Given the description of an element on the screen output the (x, y) to click on. 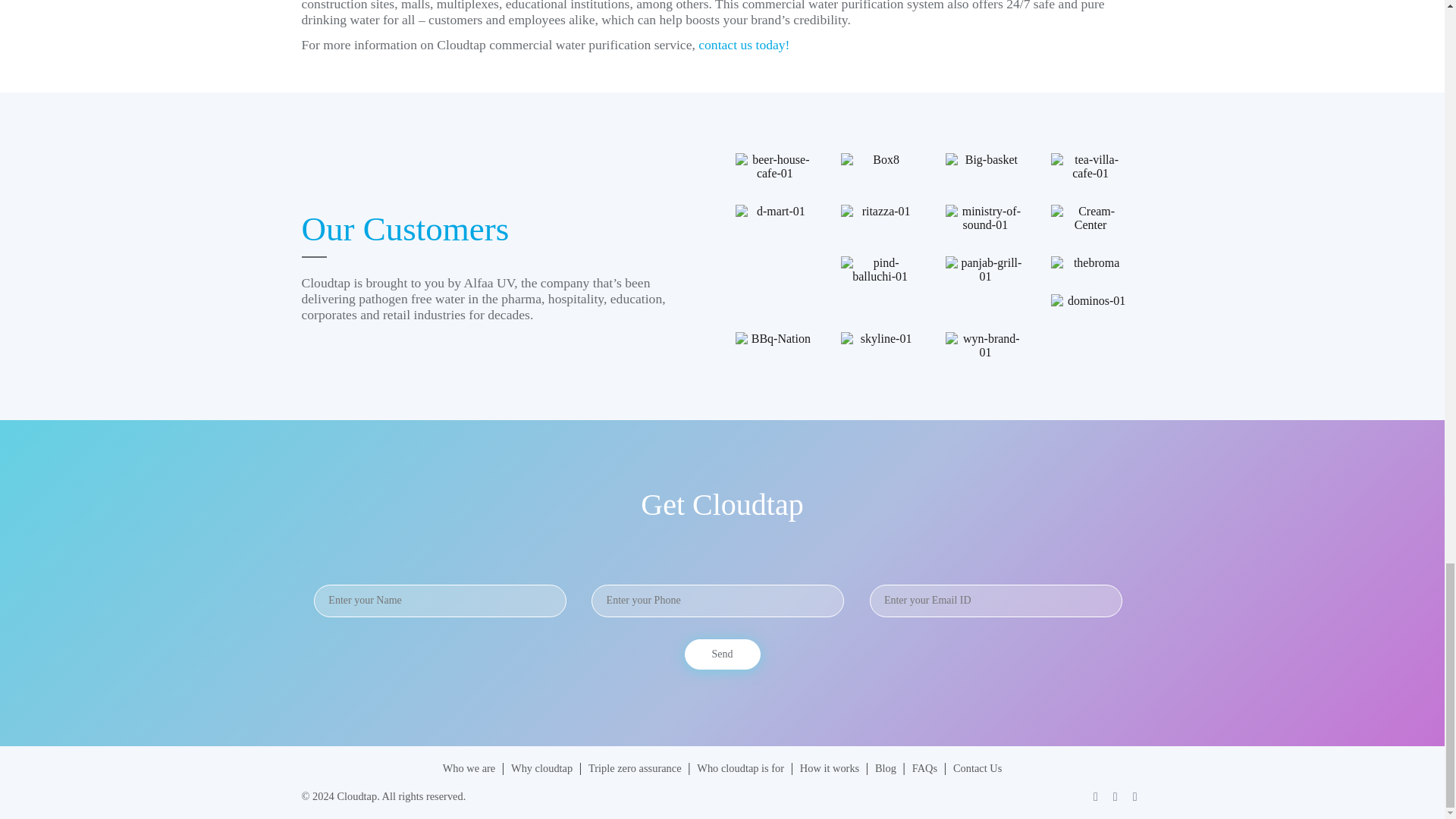
Blog (887, 767)
Why cloudtap (543, 767)
How it works (830, 767)
Contact Us (977, 767)
contact us today! (743, 44)
Who cloudtap is for (741, 767)
FAQs (926, 767)
Who we are (469, 767)
Send (722, 654)
Triple zero assurance (636, 767)
